Given the description of an element on the screen output the (x, y) to click on. 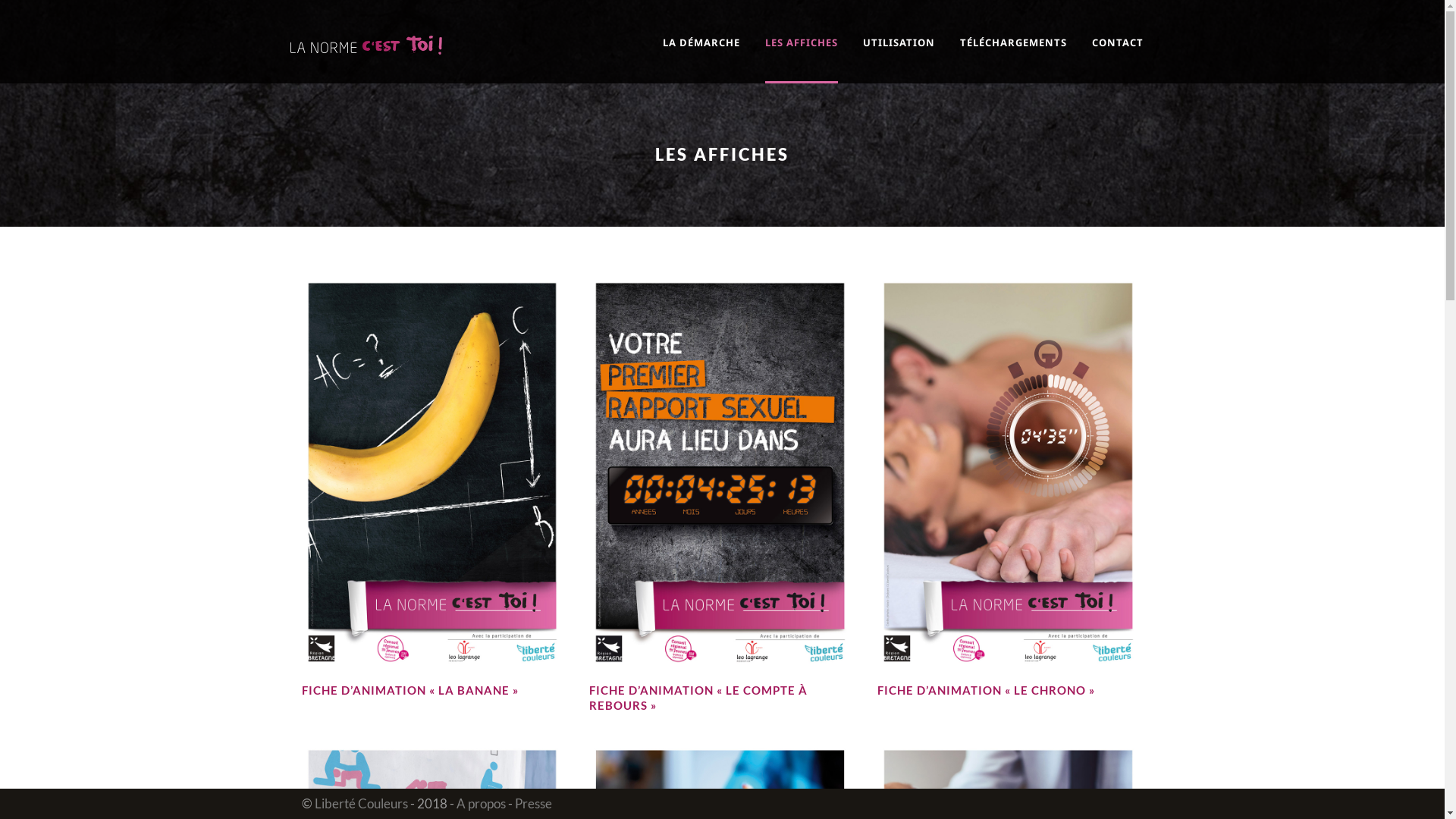
A propos Element type: text (480, 803)
CONTACT Element type: text (1117, 55)
Presse Element type: text (532, 803)
LES AFFICHES Element type: text (813, 55)
UTILISATION Element type: text (911, 55)
